Given the description of an element on the screen output the (x, y) to click on. 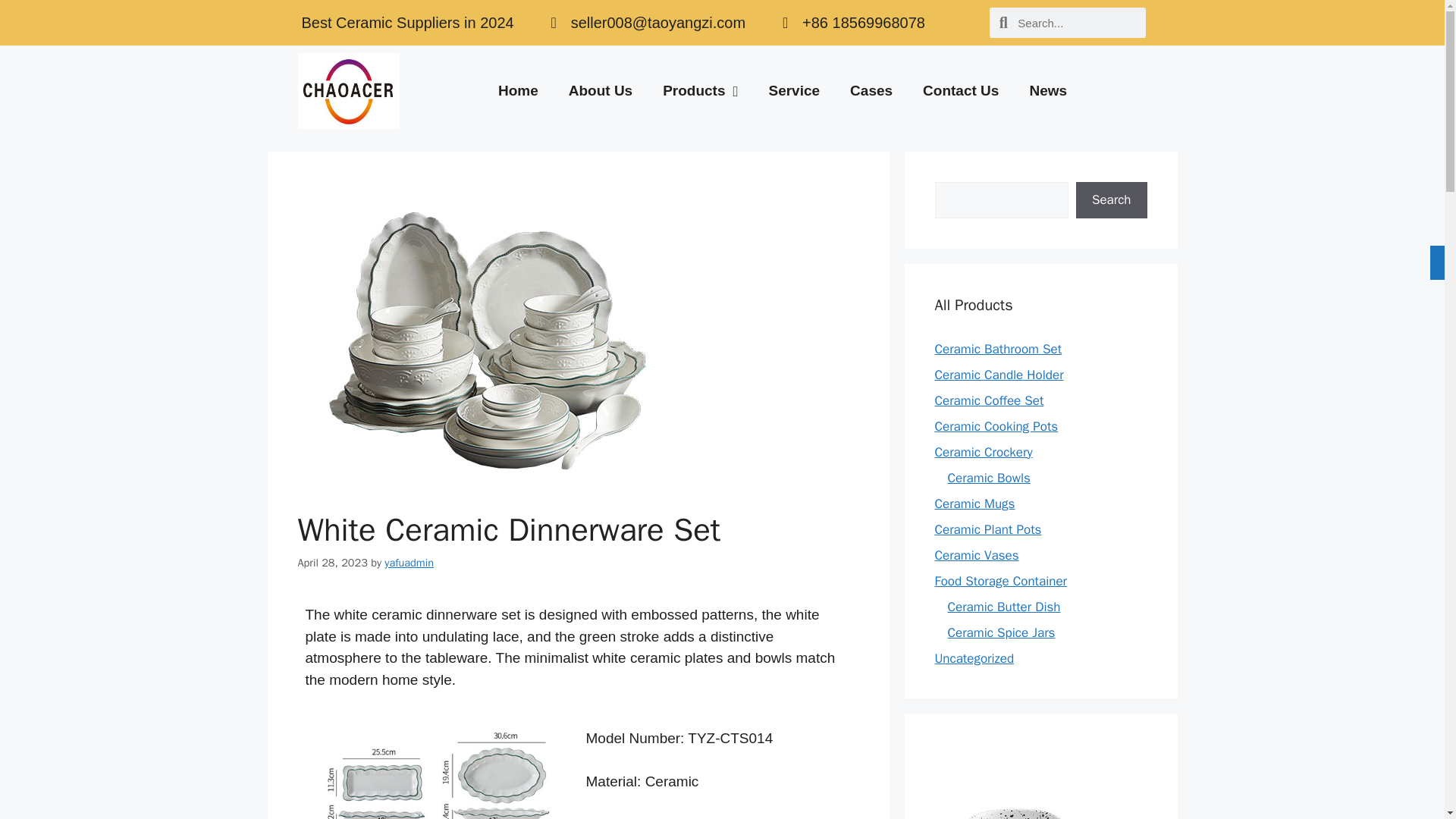
View all posts by yafuadmin (408, 562)
Service (793, 90)
Contact Us (960, 90)
About Us (600, 90)
News (1047, 90)
Products (699, 90)
Ceramic Speckled Mug (1040, 790)
Home (518, 90)
Cases (870, 90)
